Given the description of an element on the screen output the (x, y) to click on. 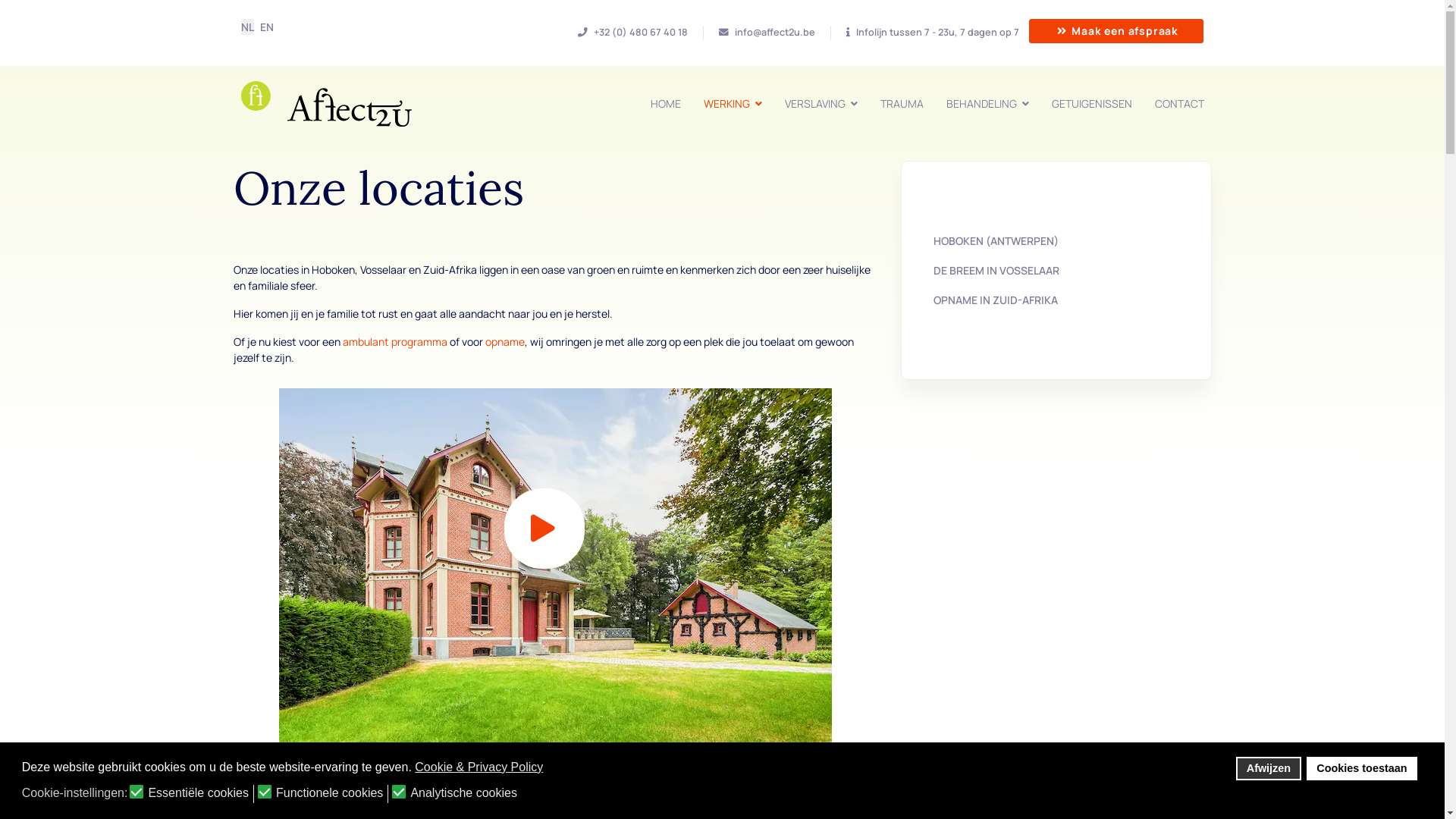
NL Element type: text (247, 26)
EN Element type: text (266, 26)
HOME Element type: text (664, 103)
+32 (0) 480 67 40 18 Element type: text (640, 31)
Cookies toestaan Element type: text (1361, 768)
opname Element type: text (504, 341)
OPNAME IN ZUID-AFRIKA Element type: text (995, 299)
Functionele cookies Element type: text (330, 793)
CONTACT Element type: text (1179, 103)
Analytische cookies Element type: text (463, 793)
ambulant programma Element type: text (394, 341)
TRAUMA Element type: text (902, 103)
BEHANDELING Element type: text (986, 103)
WERKING Element type: text (731, 103)
info@affect2u.be Element type: text (774, 31)
GETUIGENISSEN Element type: text (1091, 103)
Afwijzen Element type: text (1268, 768)
Cookie & Privacy Policy Element type: text (479, 767)
VERSLAVING Element type: text (821, 103)
HOBOKEN (ANTWERPEN) Element type: text (995, 240)
Maak een afspraak Element type: text (1116, 30)
DE BREEM IN VOSSELAAR Element type: text (996, 270)
